Given the description of an element on the screen output the (x, y) to click on. 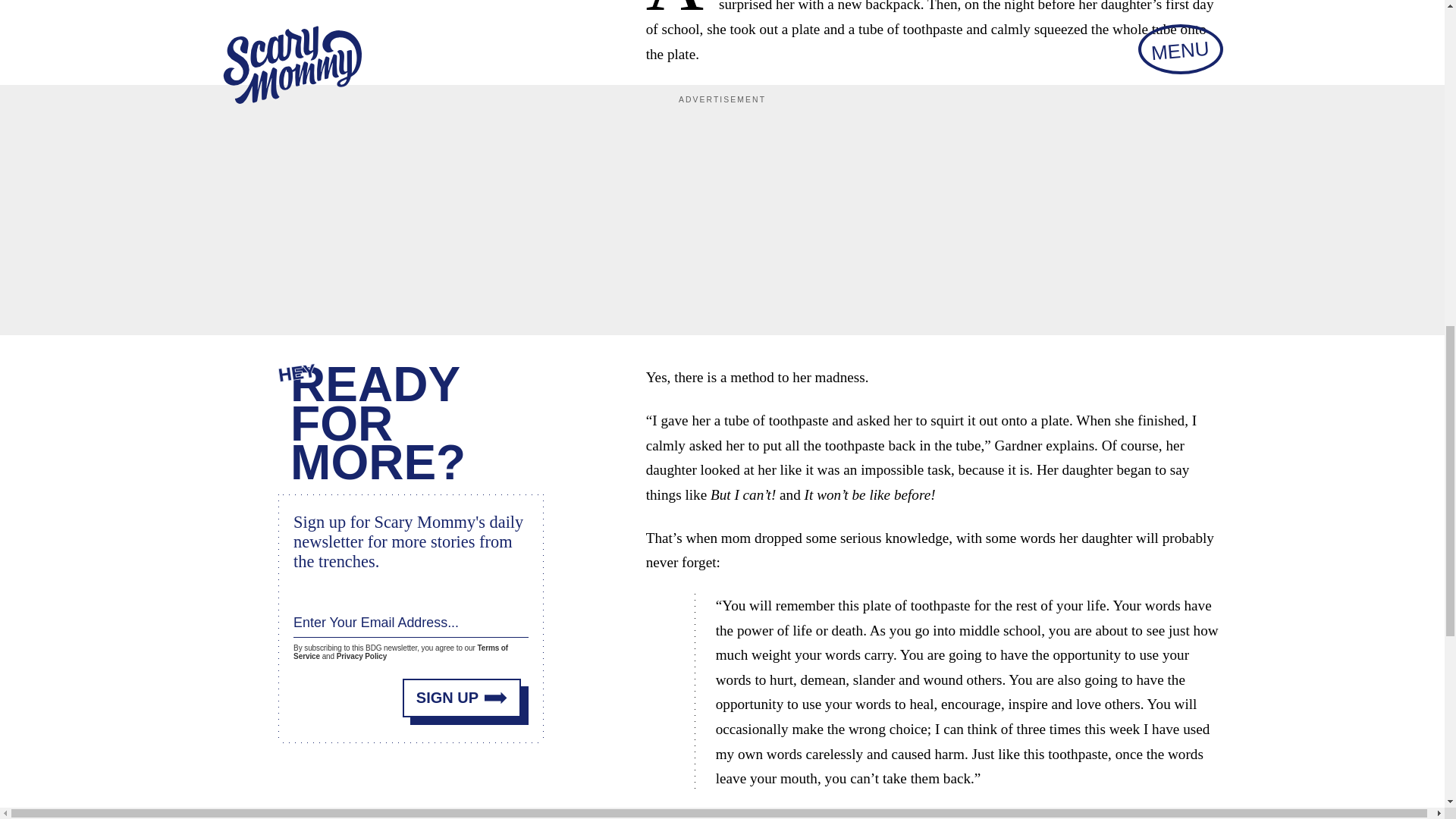
Privacy Policy (361, 653)
SIGN UP (462, 691)
Terms of Service (401, 647)
